Given the description of an element on the screen output the (x, y) to click on. 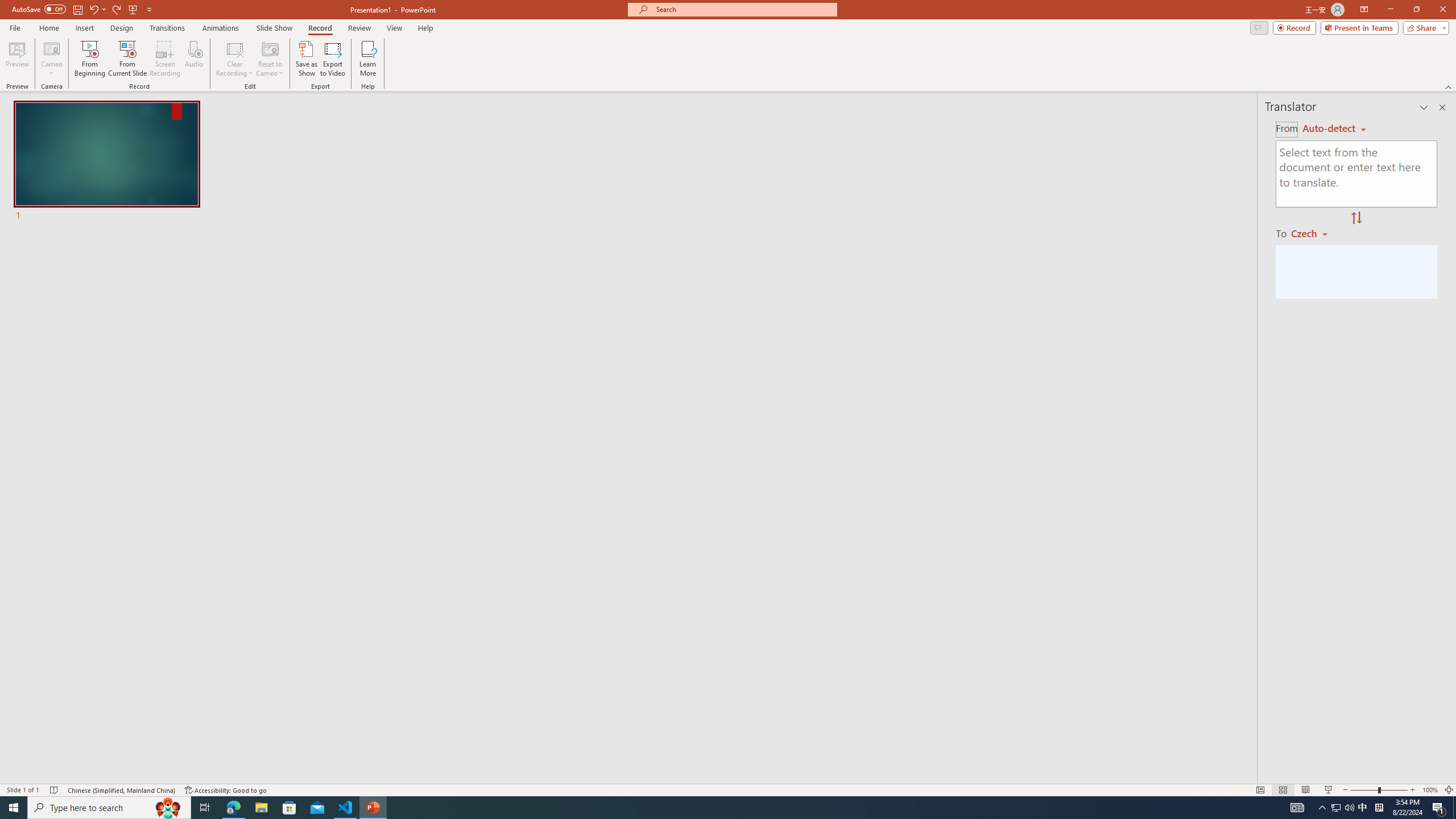
From Current Slide... (127, 58)
Zoom 100% (1430, 790)
Swap "from" and "to" languages. (1355, 218)
Accessibility Checker Accessibility: Good to go (226, 790)
